Given the description of an element on the screen output the (x, y) to click on. 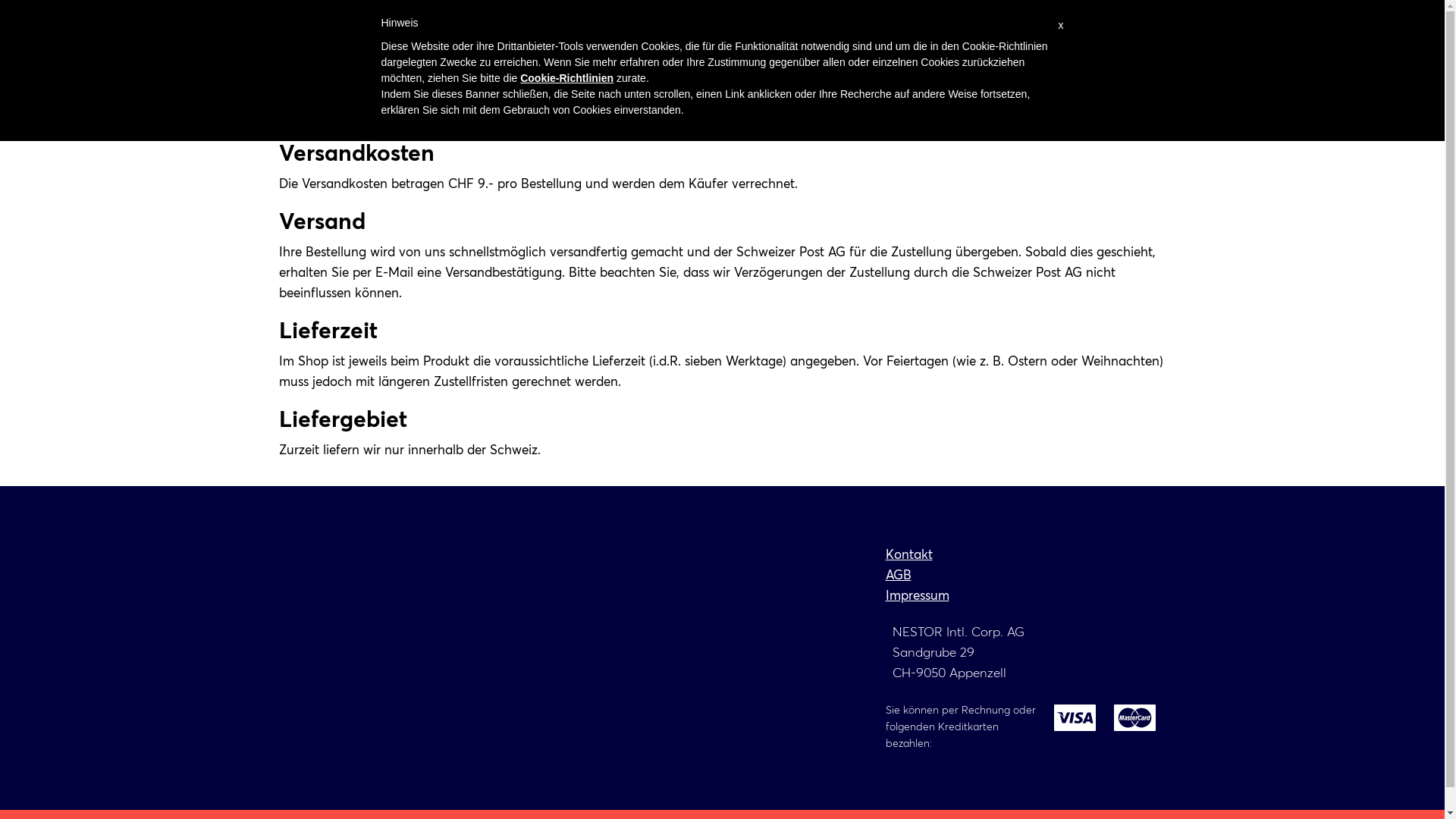
Verwendung Element type: text (808, 54)
login Element type: text (1142, 13)
Auskunft Element type: text (1021, 54)
Impressum Element type: text (917, 594)
aidwatch Element type: text (343, 54)
x Element type: text (1060, 25)
Kontakt Element type: text (908, 553)
aidwatch@nestor-swiss.ch Element type: text (993, 14)
Shop Element type: text (1127, 52)
+41 71 340 00 55 Element type: text (837, 14)
Cookie-Richtlinien Element type: text (566, 78)
AGB Element type: text (898, 574)
